Given the description of an element on the screen output the (x, y) to click on. 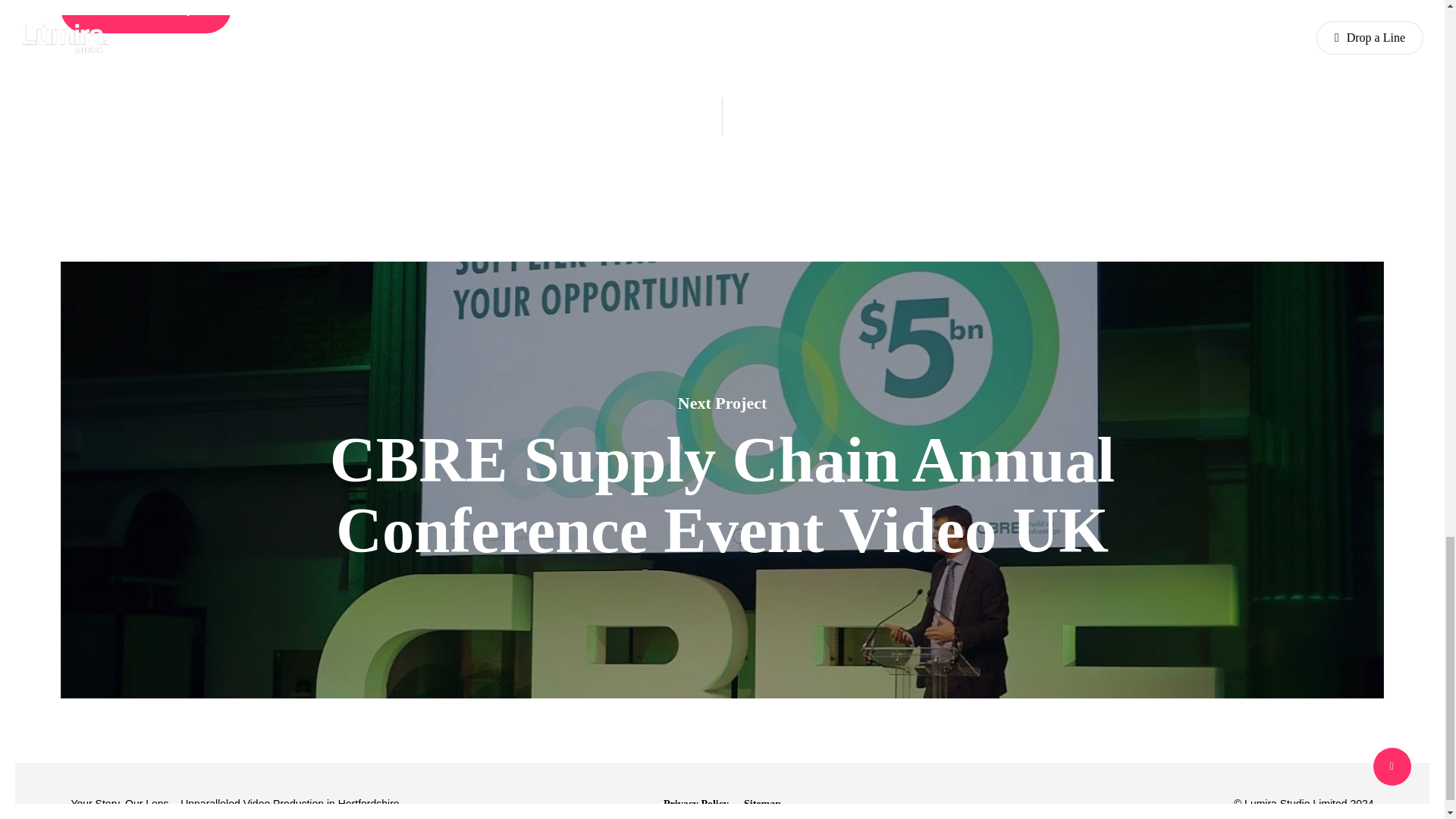
Sitemap (762, 804)
Contact us Today (146, 16)
Privacy Policy (696, 804)
